Given the description of an element on the screen output the (x, y) to click on. 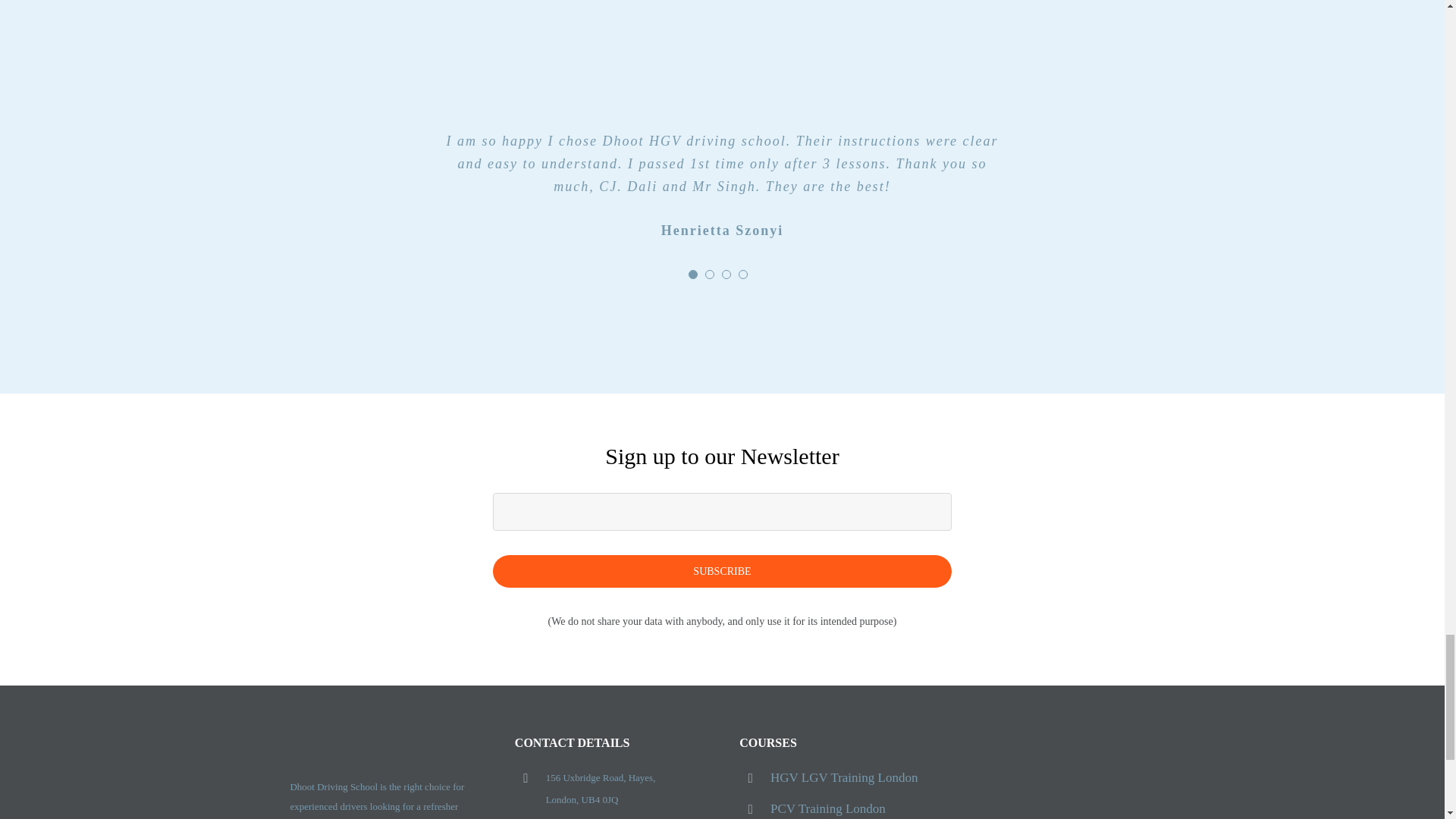
footer-ad-grid (1058, 778)
SUBSCRIBE (722, 539)
